Given the description of an element on the screen output the (x, y) to click on. 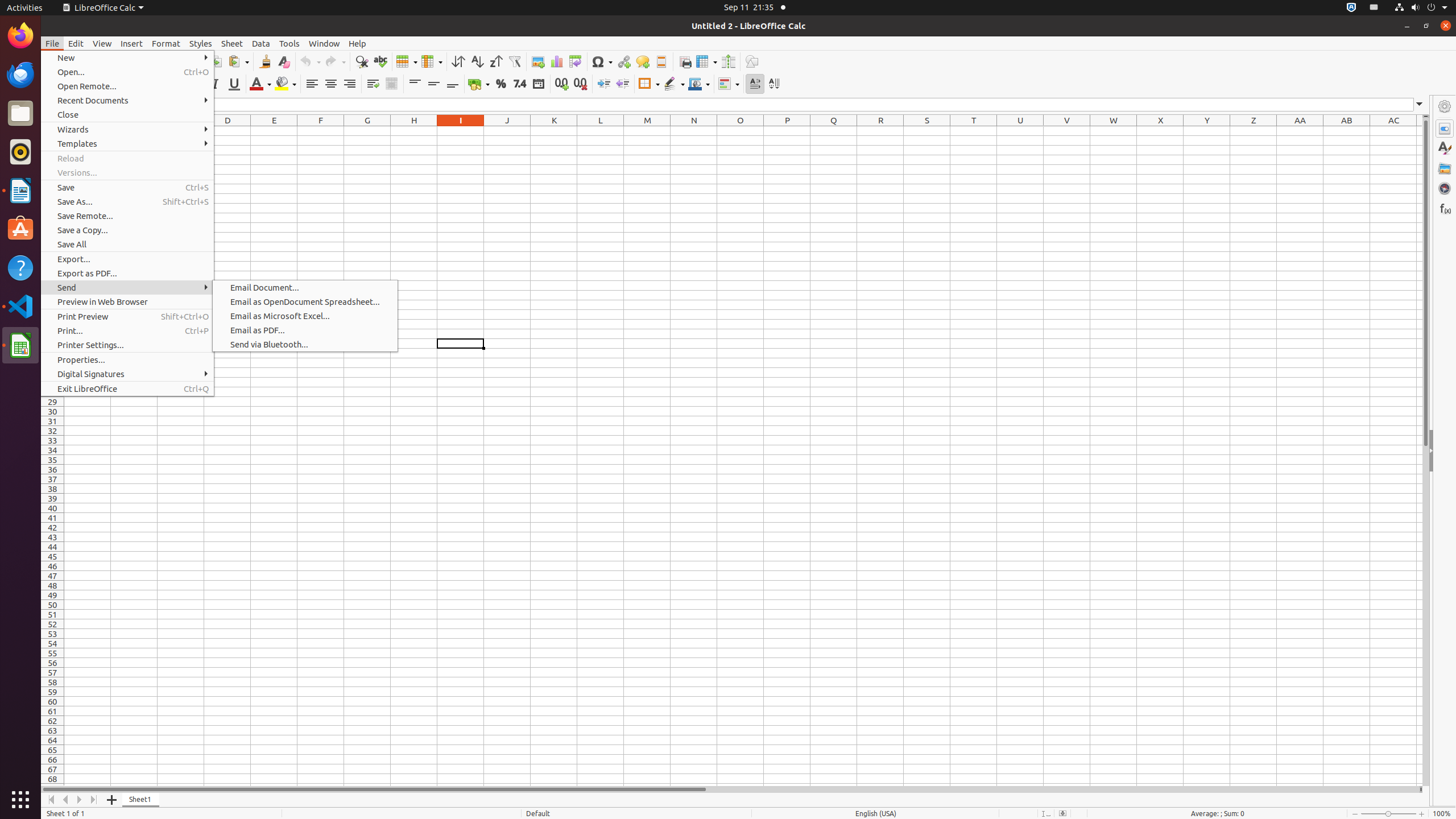
AutoFilter Element type: push-button (514, 61)
Redo Element type: push-button (334, 61)
Spelling Element type: push-button (379, 61)
T1 Element type: table-cell (973, 130)
Add Decimal Place Element type: push-button (561, 83)
